Given the description of an element on the screen output the (x, y) to click on. 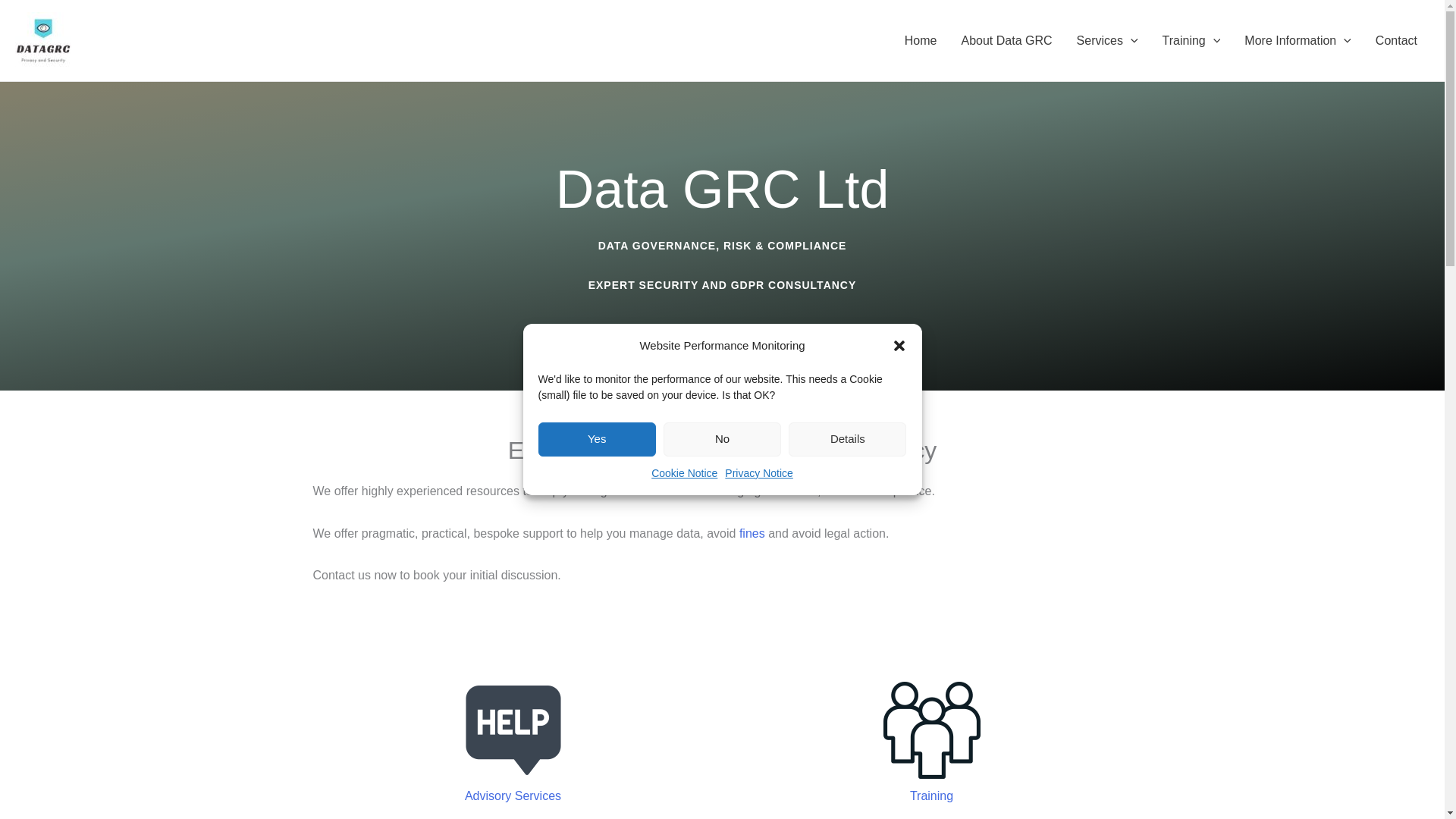
Cookie Notice (683, 630)
Details (847, 680)
Services (1107, 40)
Training (1191, 40)
More Information (1296, 40)
Privacy Notice (758, 608)
Home (920, 40)
About Data GRC (1006, 40)
Yes (597, 750)
No (721, 697)
